Given the description of an element on the screen output the (x, y) to click on. 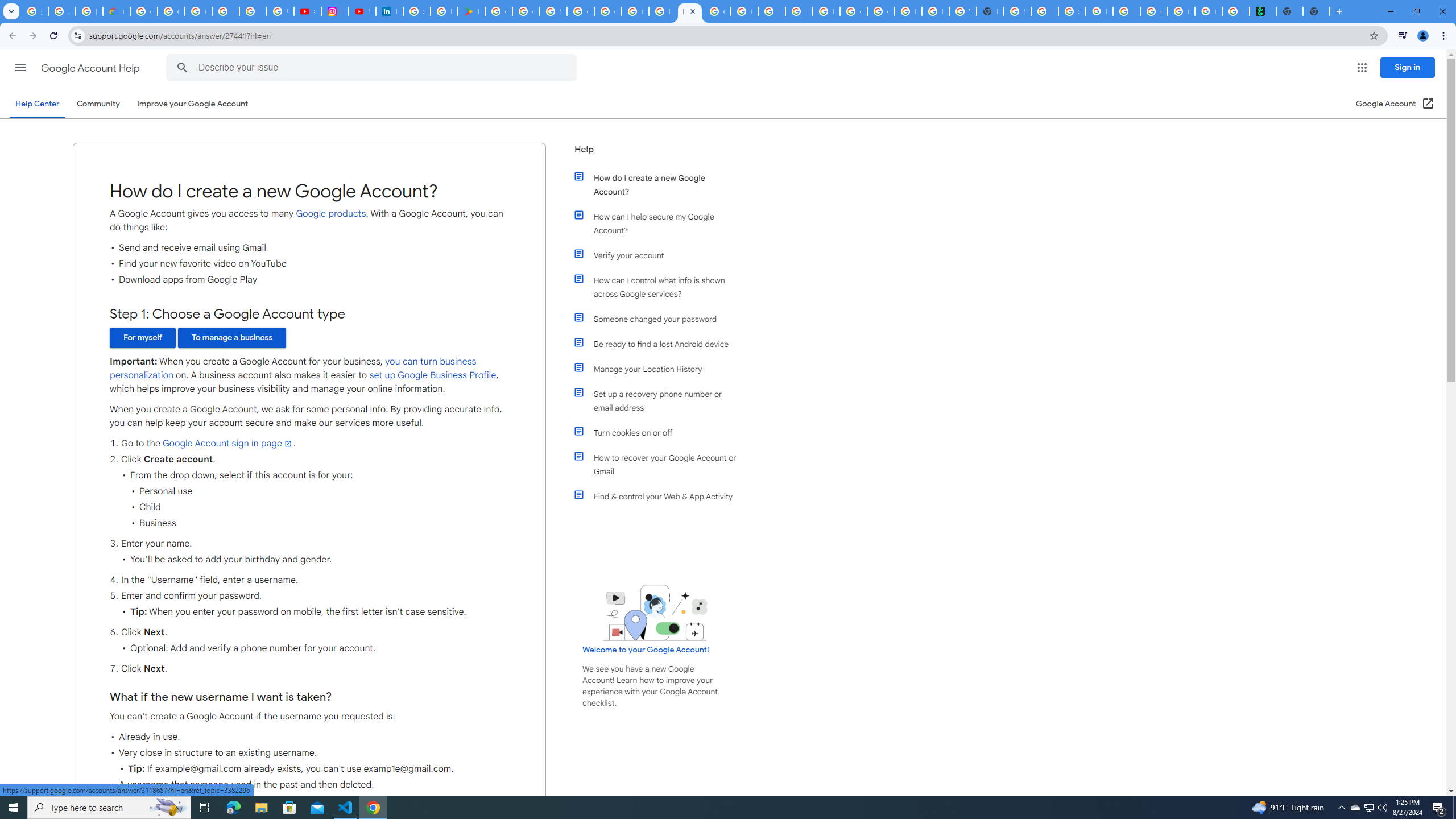
Google products (330, 213)
you can turn business personalization (292, 368)
Google Account (Open in a new window) (1395, 103)
Help Center (36, 103)
Learning Center home page image (655, 612)
Someone changed your password (661, 318)
Manage your Location History (661, 368)
Google Account sign in page (227, 443)
